Given the description of an element on the screen output the (x, y) to click on. 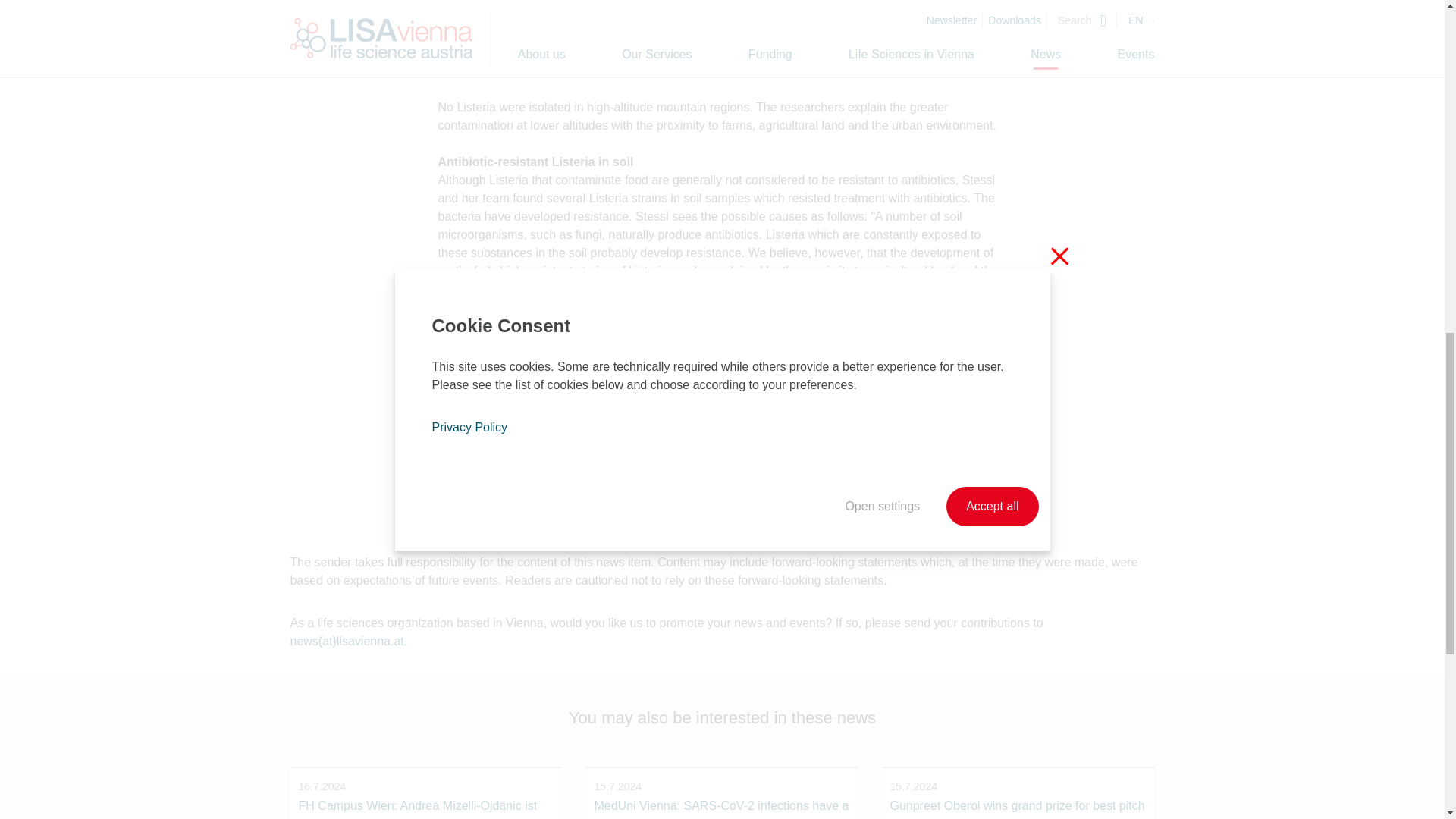
www.vetmeduni.ac.at (895, 513)
